Given the description of an element on the screen output the (x, y) to click on. 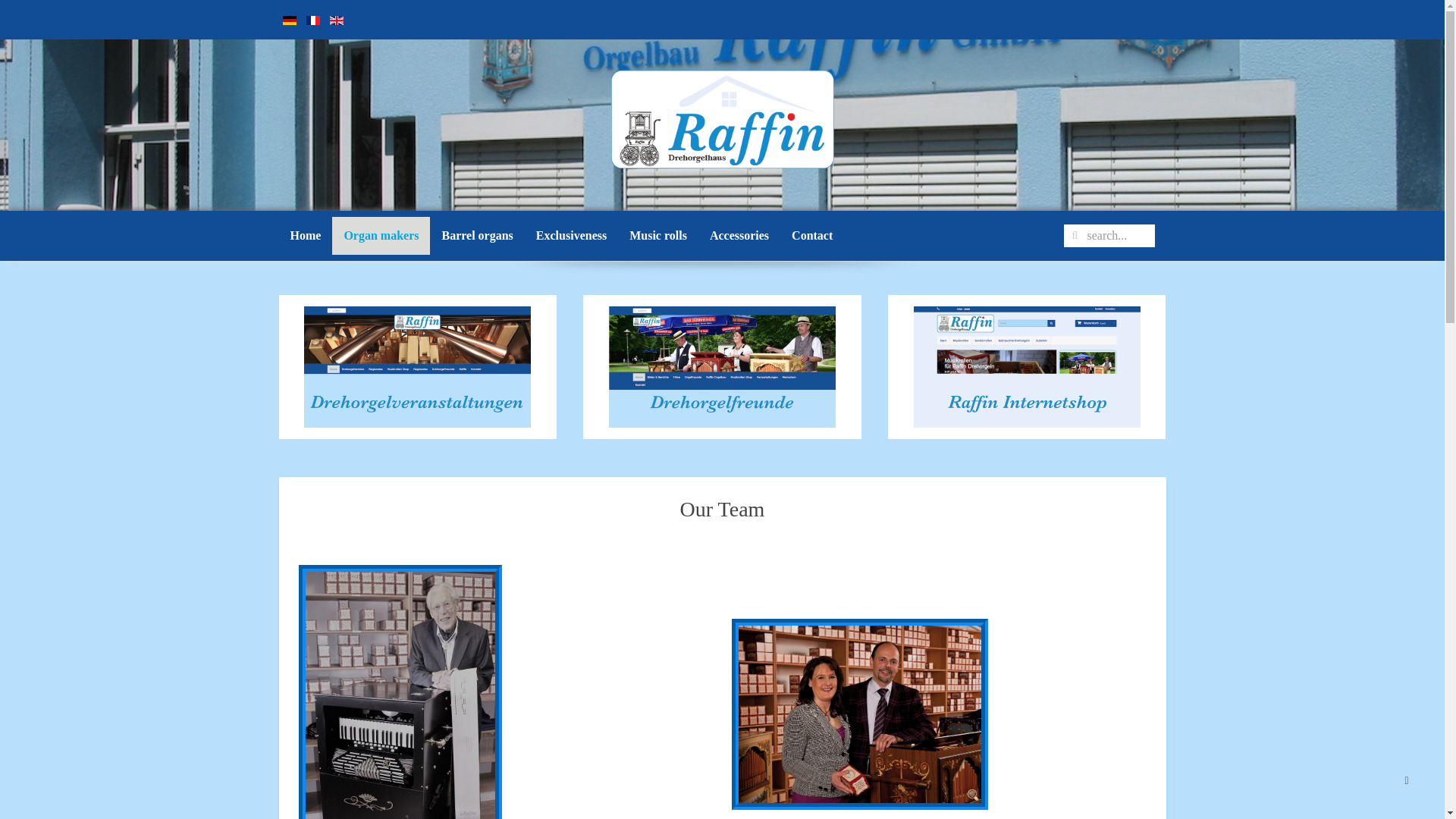
Music rolls (657, 235)
Home (306, 235)
Organ makers (380, 235)
Exclusiveness (570, 235)
Barrel organs (476, 235)
Accessories (739, 235)
Contact (812, 235)
deutsch (288, 20)
